Given the description of an element on the screen output the (x, y) to click on. 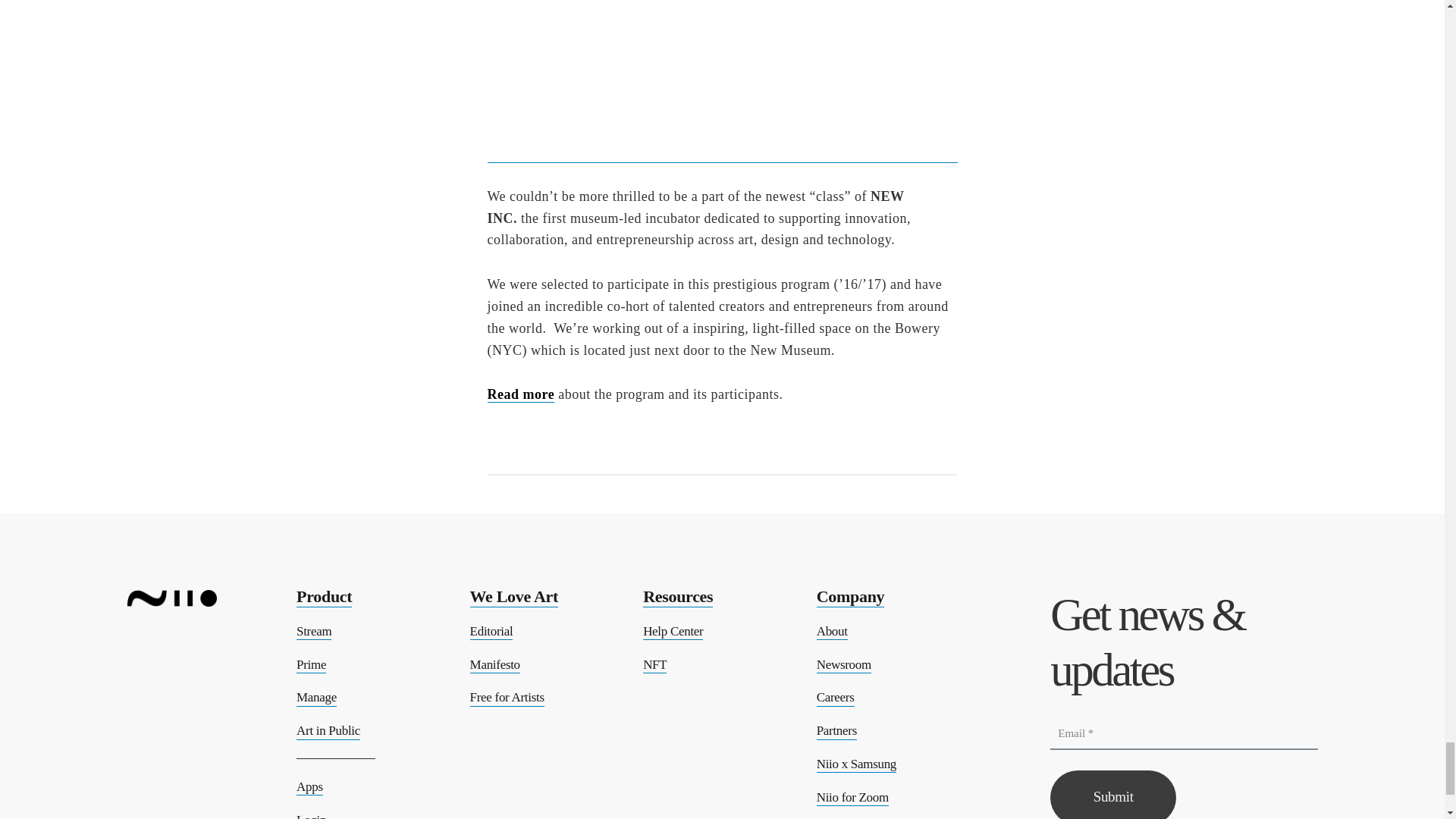
Prime (311, 665)
Art in Public (328, 731)
Login (311, 816)
Read more (520, 394)
We Love Art (513, 597)
Product (324, 597)
Apps (310, 787)
Editorial (491, 631)
Manifesto (494, 665)
Stream (314, 631)
